Given the description of an element on the screen output the (x, y) to click on. 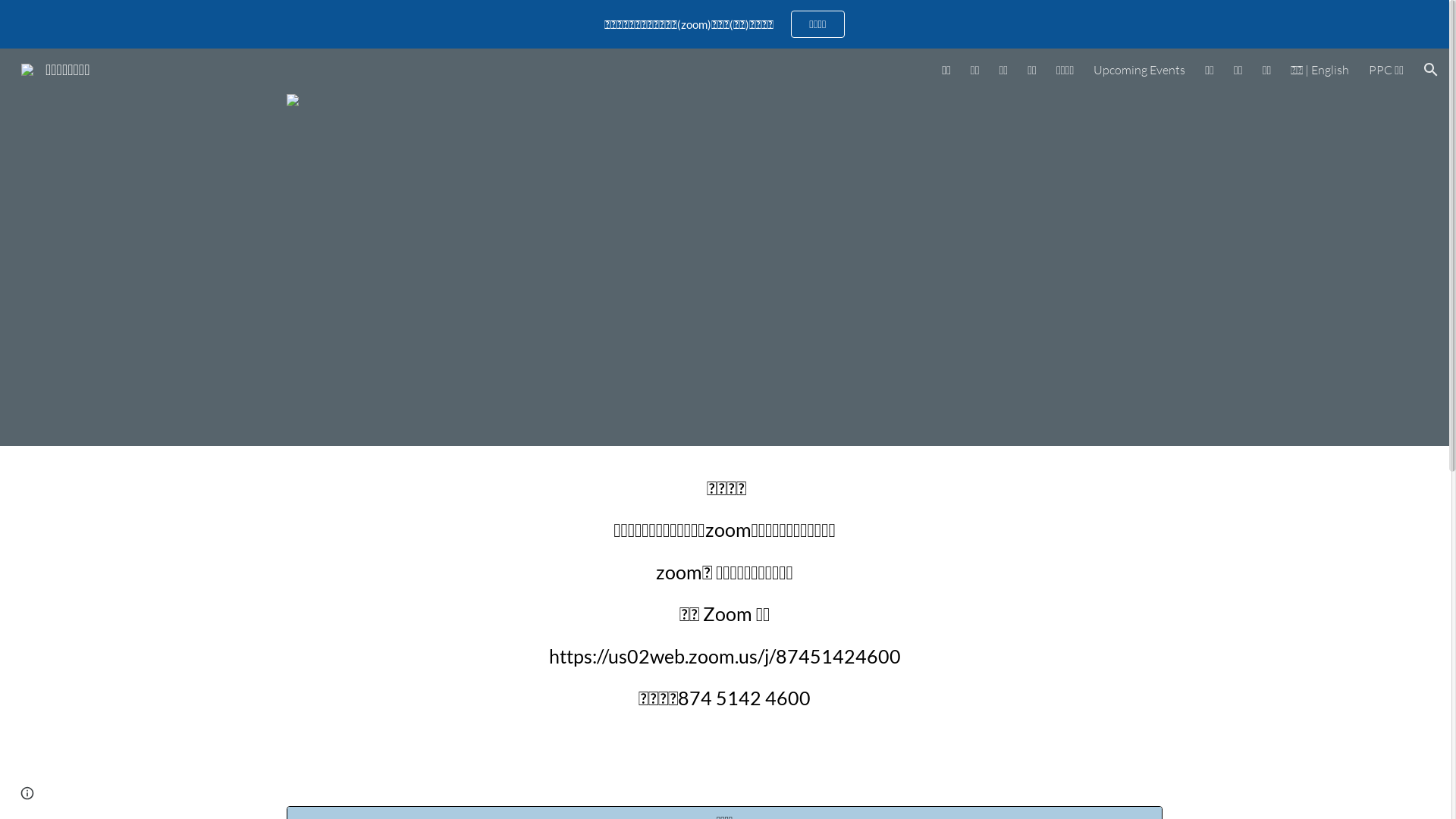
Upcoming Events Element type: text (1139, 69)
